Given the description of an element on the screen output the (x, y) to click on. 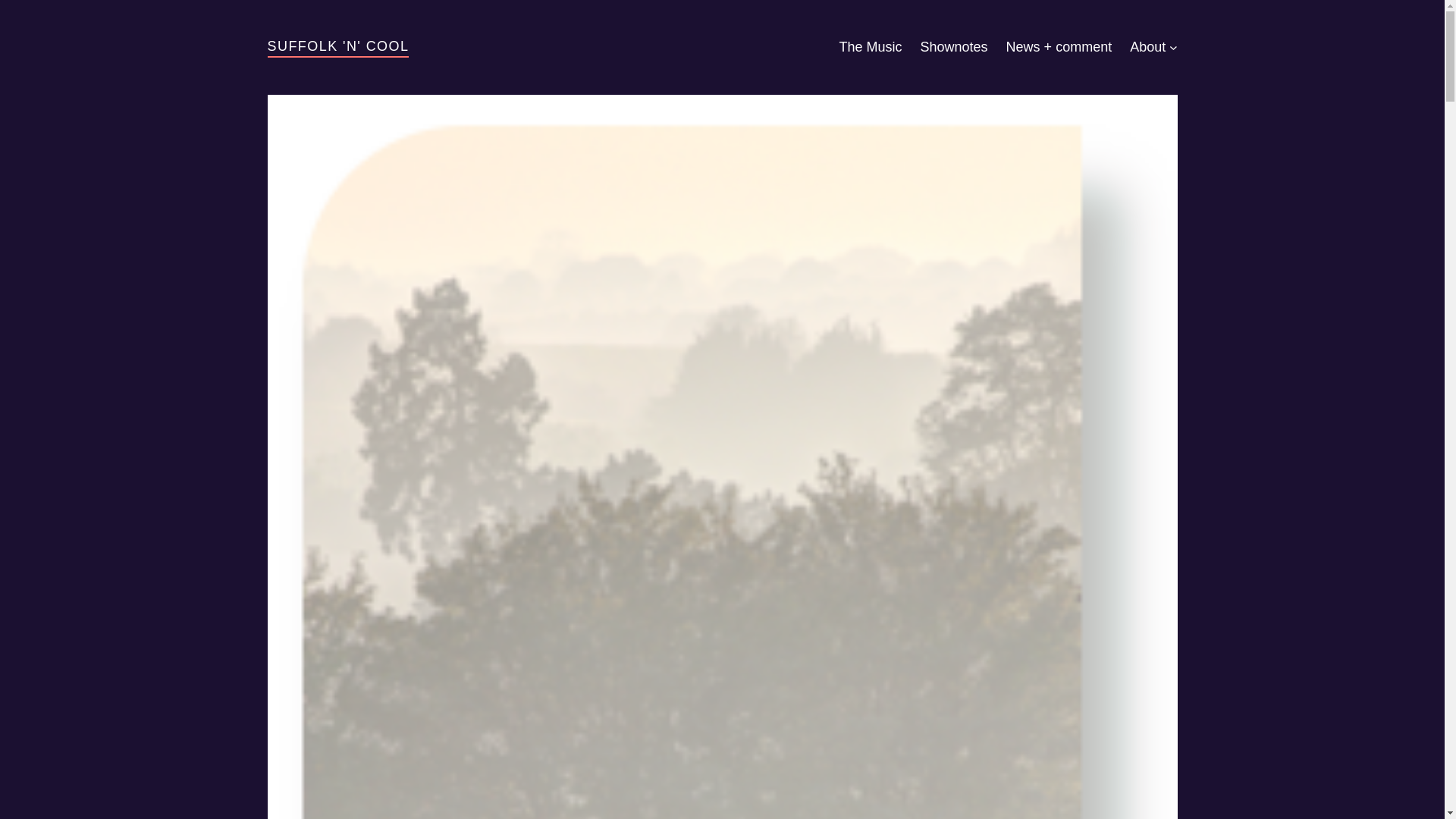
Read shownotes and stream full episodes (954, 47)
About (1147, 47)
The Music (871, 47)
About Suffolk and Cool (1147, 47)
SUFFOLK 'N' COOL (337, 46)
Shownotes (954, 47)
